Given the description of an element on the screen output the (x, y) to click on. 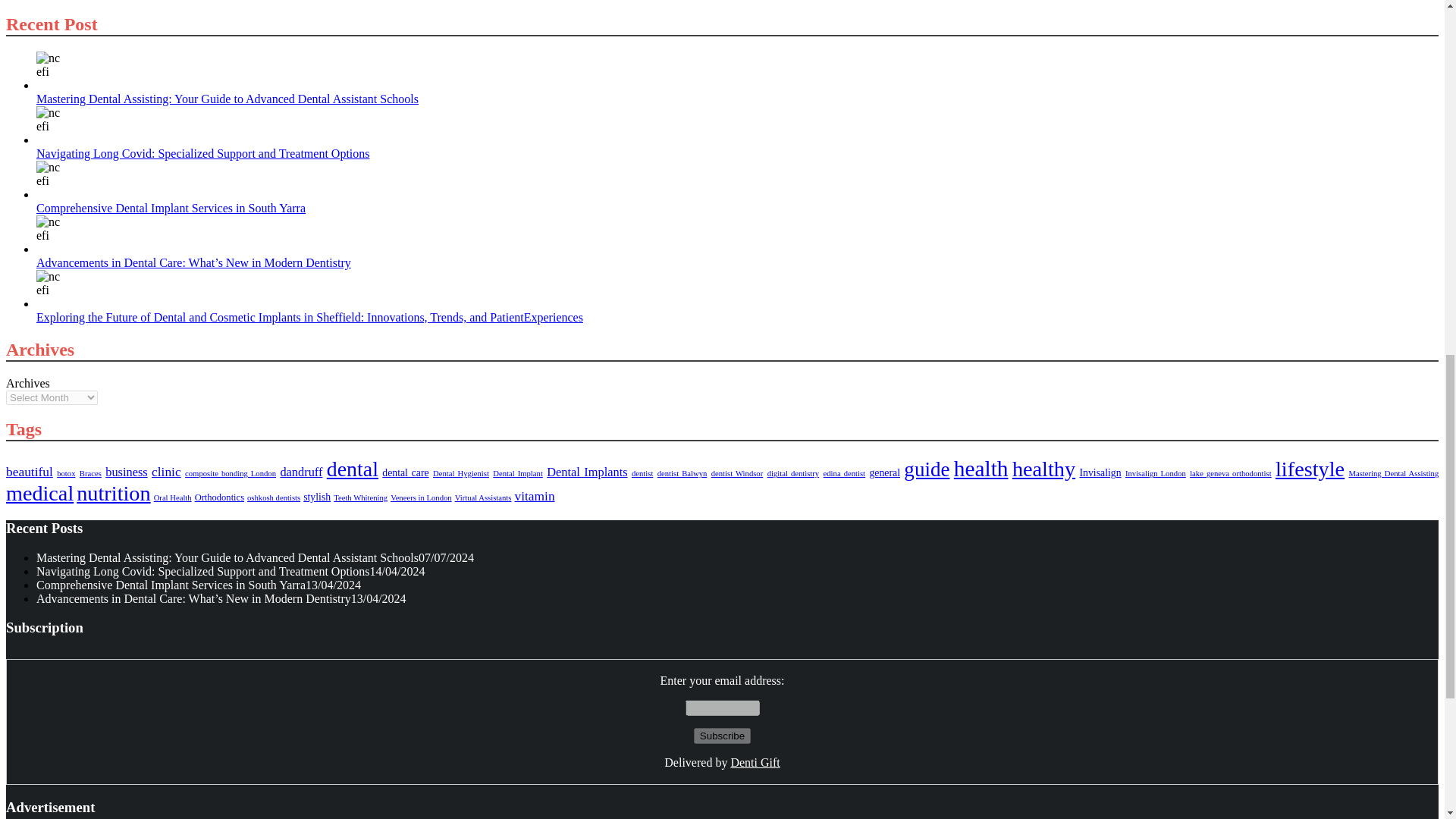
Dental Implants (587, 472)
clinic (165, 471)
dentist Balwyn (682, 473)
edina dentist (845, 473)
Subscribe (722, 735)
Comprehensive Dental Implant Services in South Yarra (50, 174)
Braces (90, 473)
Advancements in Dental Care: What's New in Modern Dentistry (50, 229)
dental care (404, 472)
Dental Hygienist (460, 473)
dentist (641, 473)
dental (352, 468)
